Given the description of an element on the screen output the (x, y) to click on. 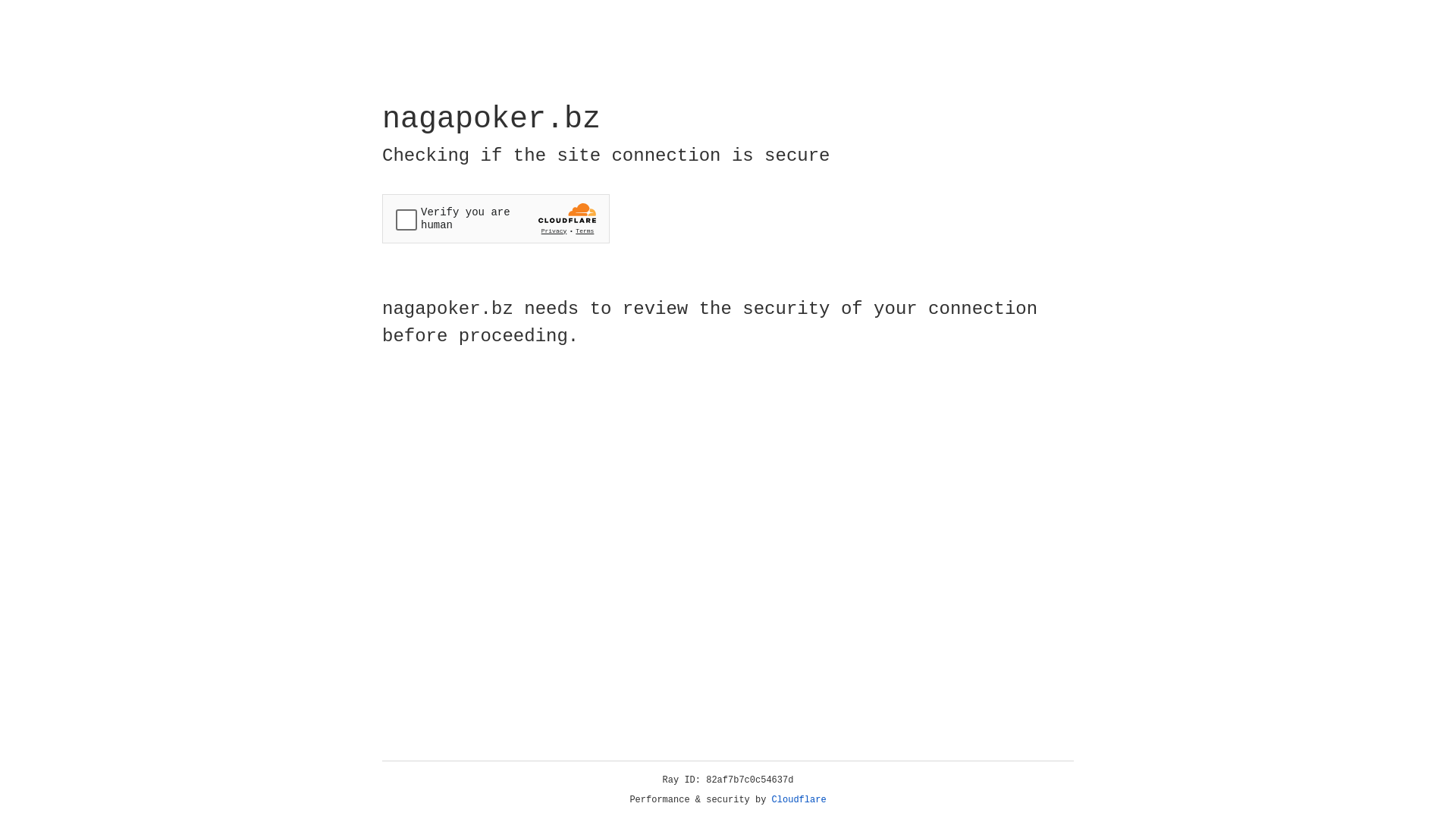
Widget containing a Cloudflare security challenge Element type: hover (495, 218)
Cloudflare Element type: text (798, 799)
